Given the description of an element on the screen output the (x, y) to click on. 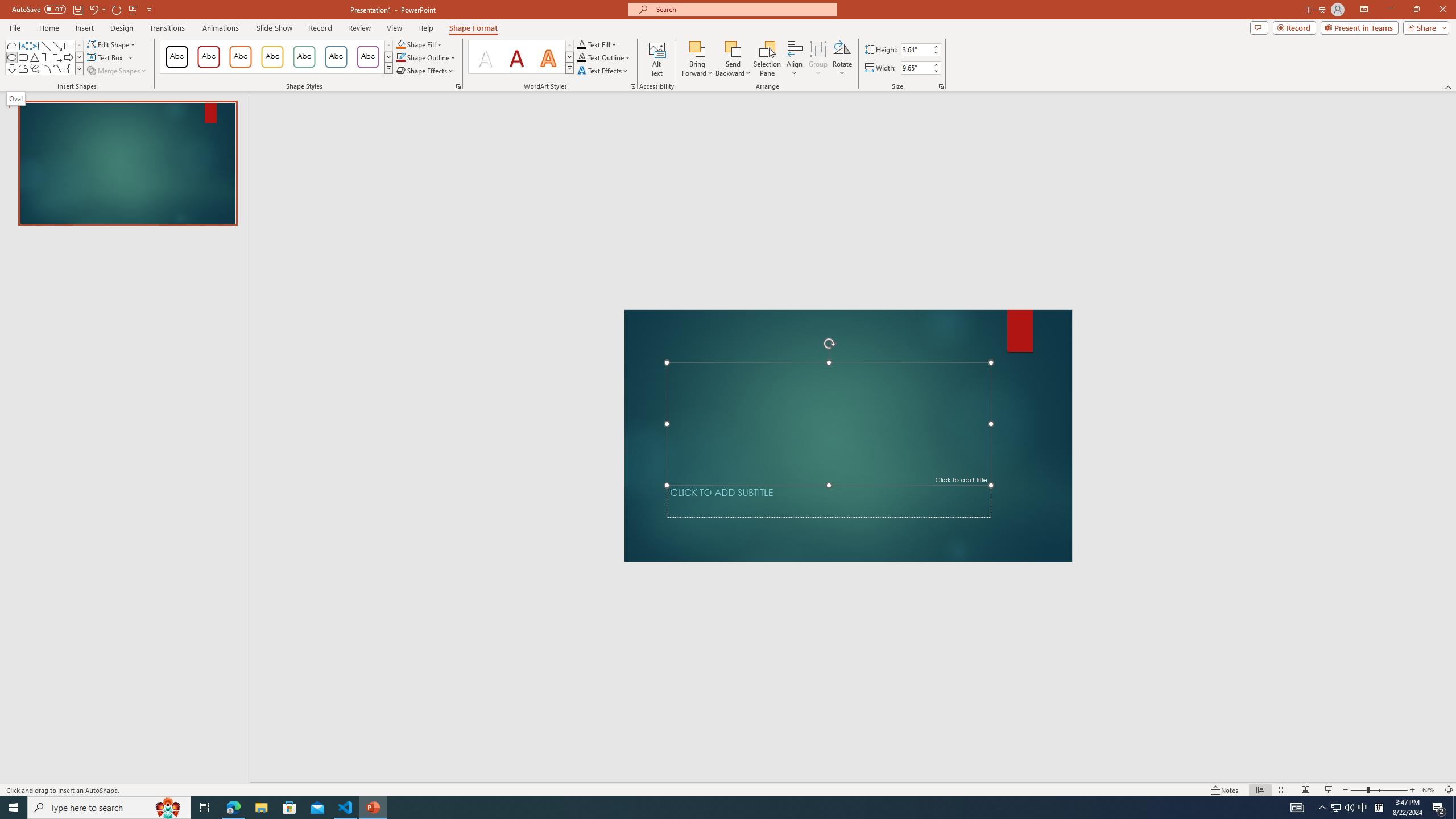
Arrow: Down (11, 68)
Format Object... (458, 85)
Freeform: Scribble (34, 68)
Colored Outline - Dark Red, Accent 1 (208, 56)
Text Fill (596, 44)
Text Outline (604, 56)
Shape Fill (419, 44)
